Given the description of an element on the screen output the (x, y) to click on. 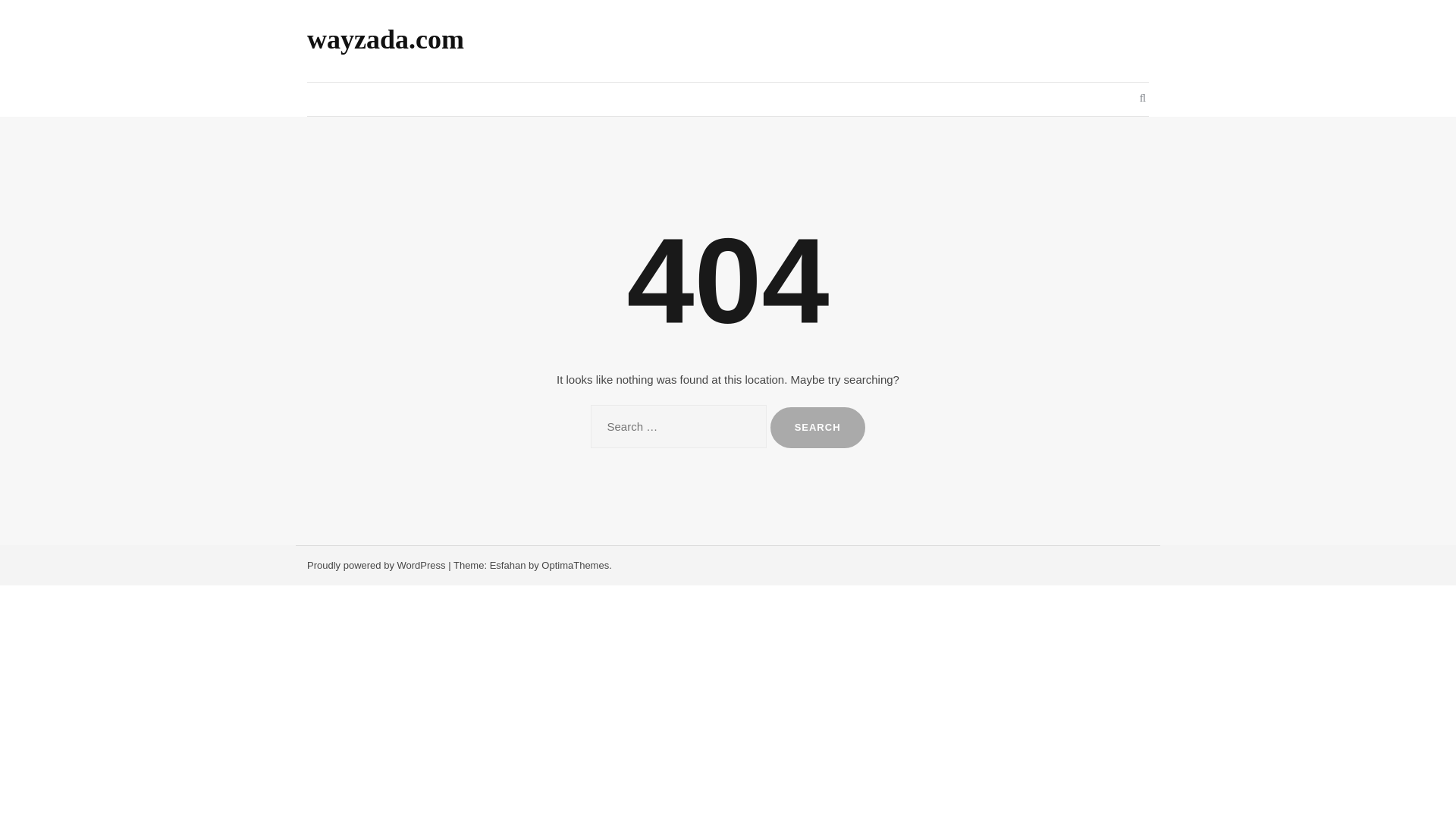
wayzada.com (385, 39)
Search (817, 427)
Proudly powered by WordPress (376, 564)
Esfahan (507, 564)
Search (817, 427)
Search (817, 427)
